Given the description of an element on the screen output the (x, y) to click on. 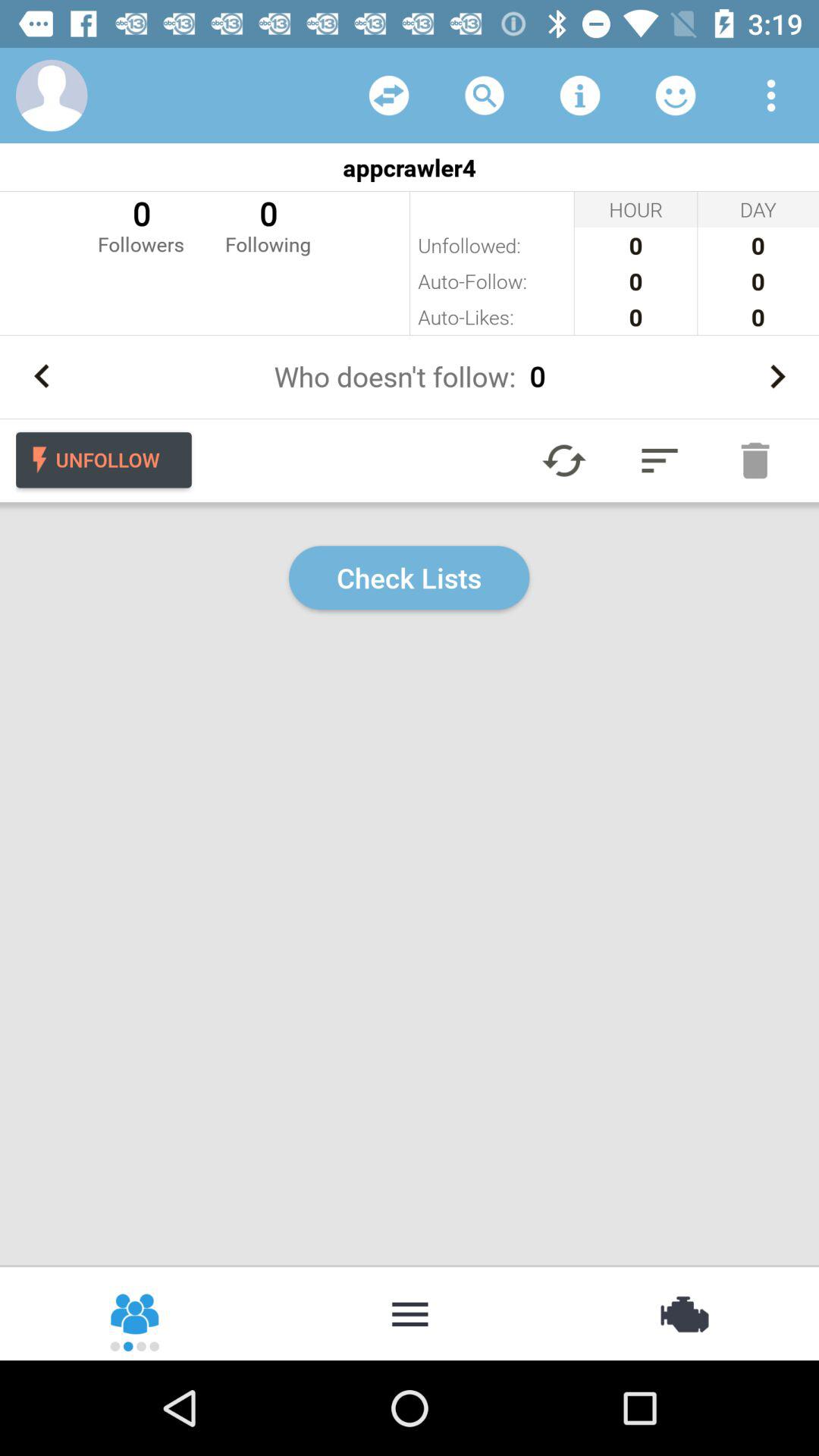
choose item below the who doesn t (659, 460)
